Given the description of an element on the screen output the (x, y) to click on. 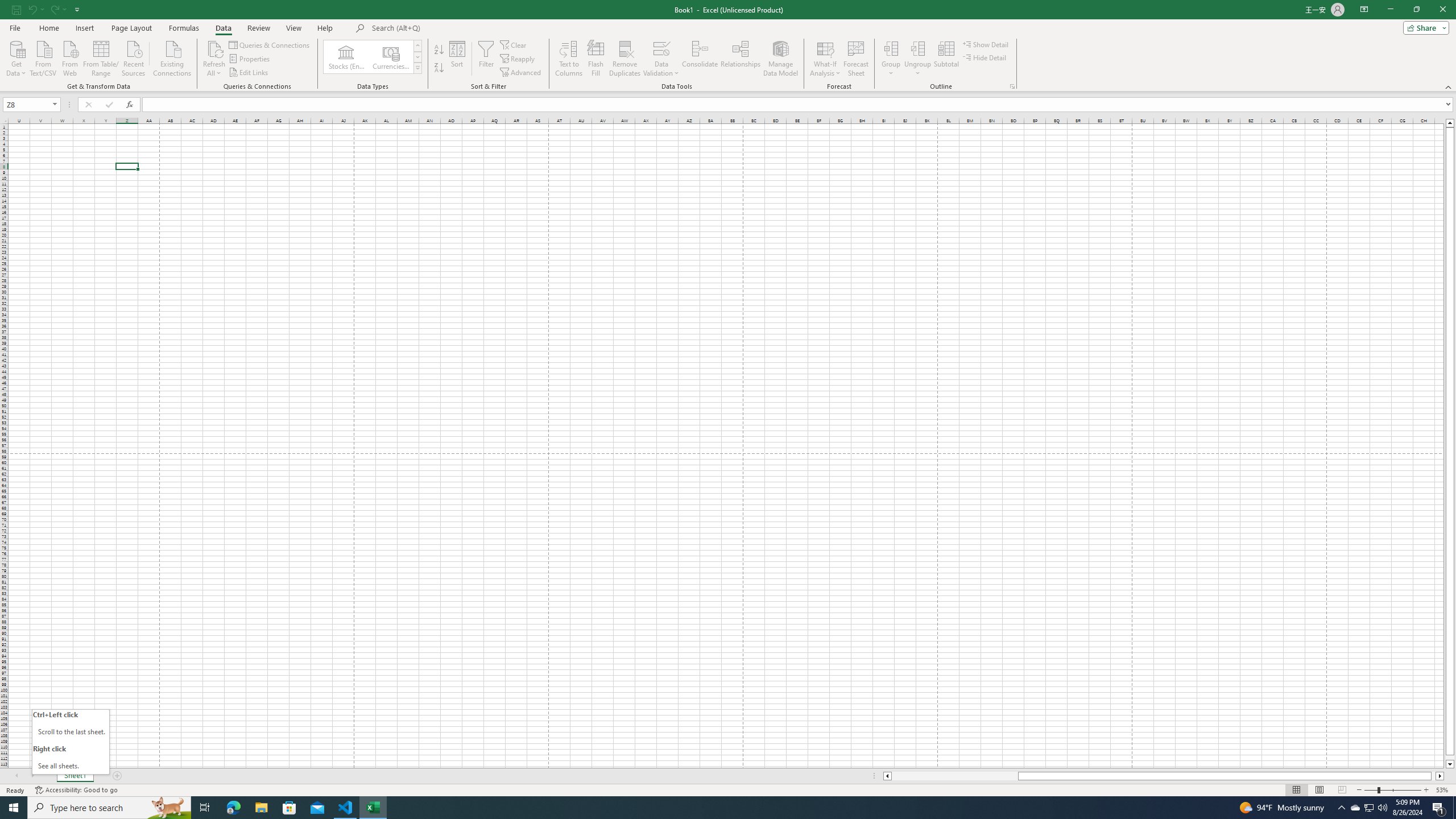
Class: MsoCommandBar (728, 45)
Subtotal (946, 58)
Existing Connections (171, 57)
Show Detail (985, 44)
Get Data (16, 57)
Hide Detail (985, 56)
What-If Analysis (825, 58)
Filter (485, 58)
